Given the description of an element on the screen output the (x, y) to click on. 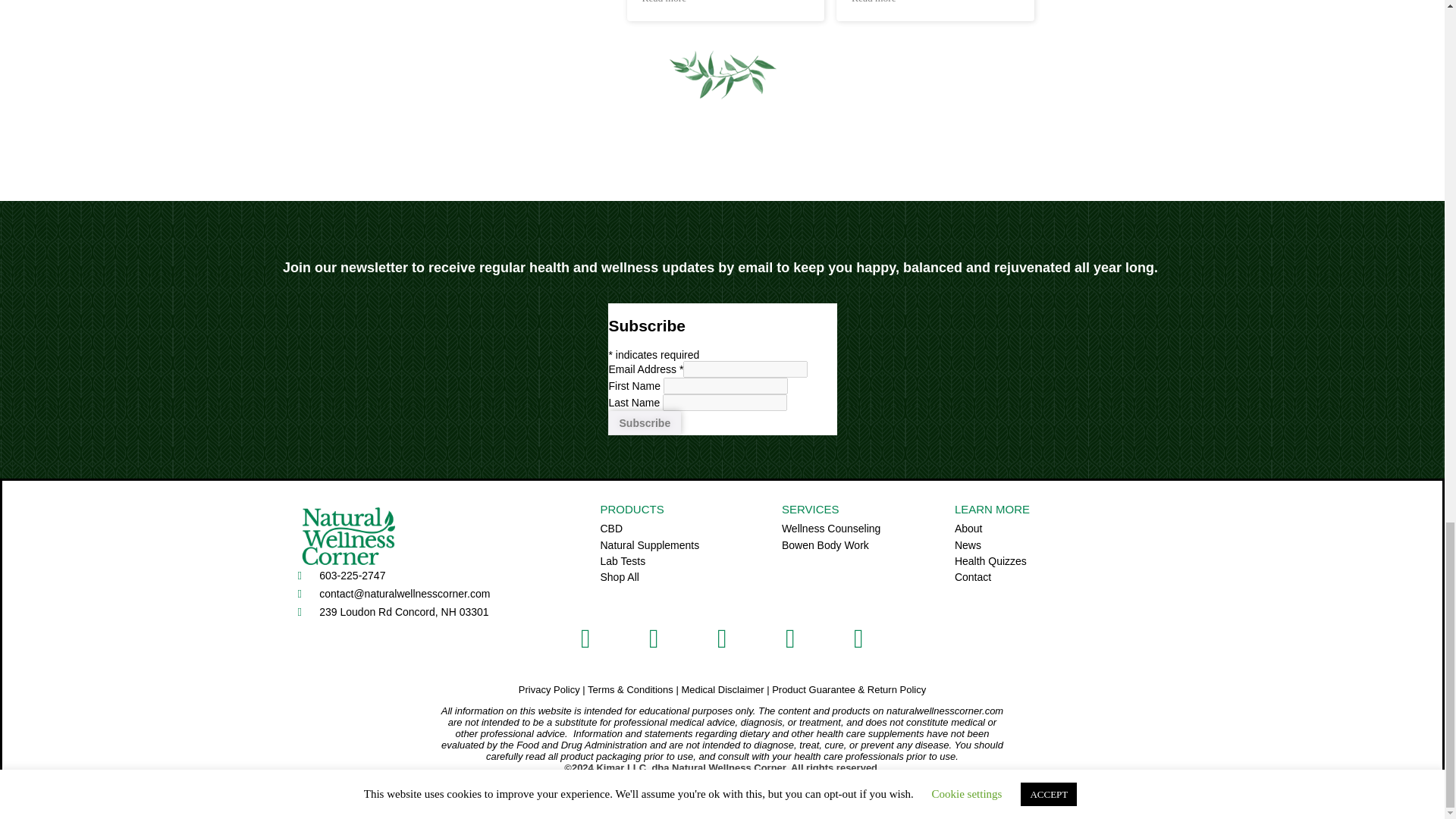
Subscribe (644, 422)
